Given the description of an element on the screen output the (x, y) to click on. 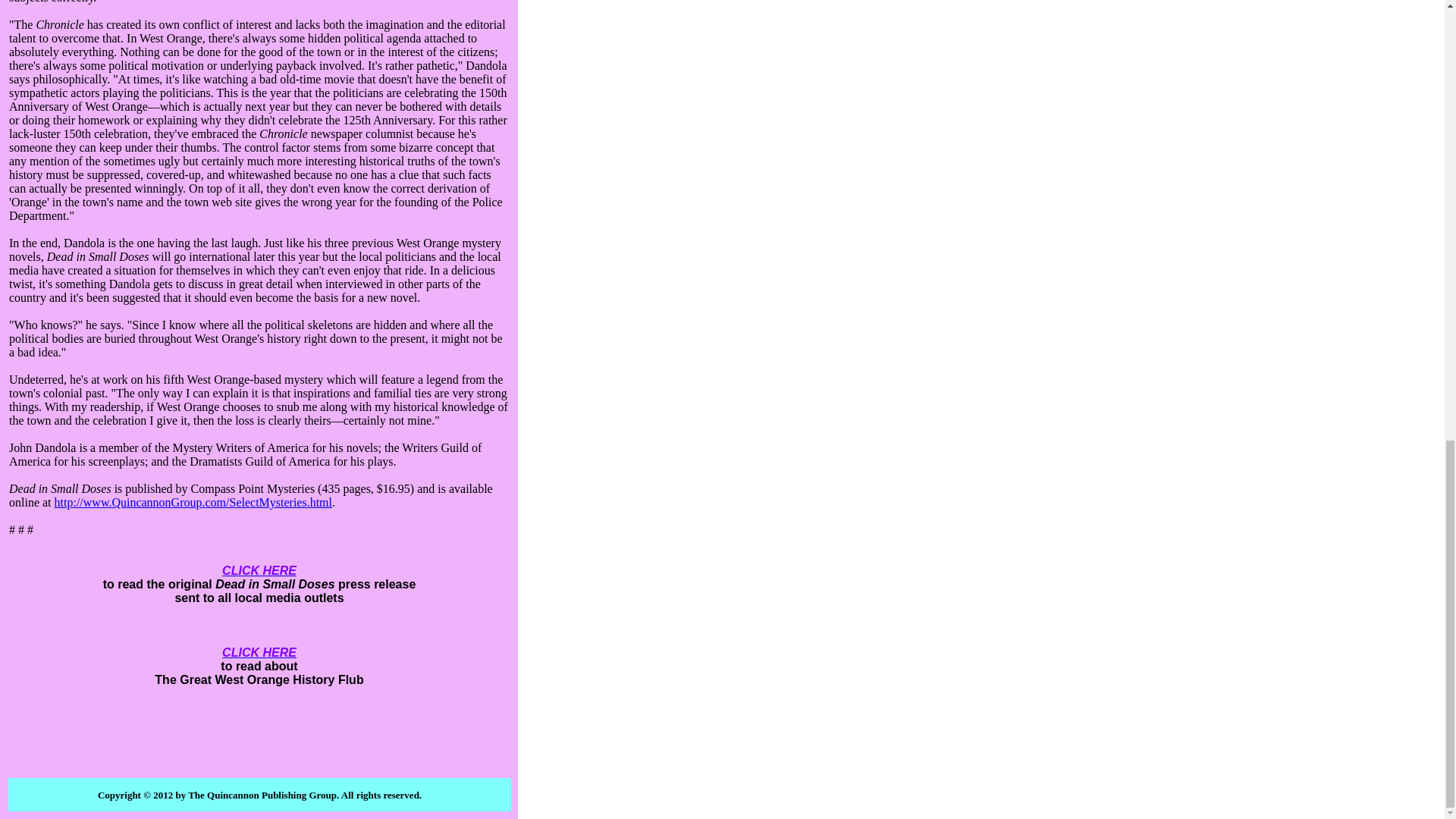
CLICK HERE (259, 652)
CLICK HERE (259, 570)
